Given the description of an element on the screen output the (x, y) to click on. 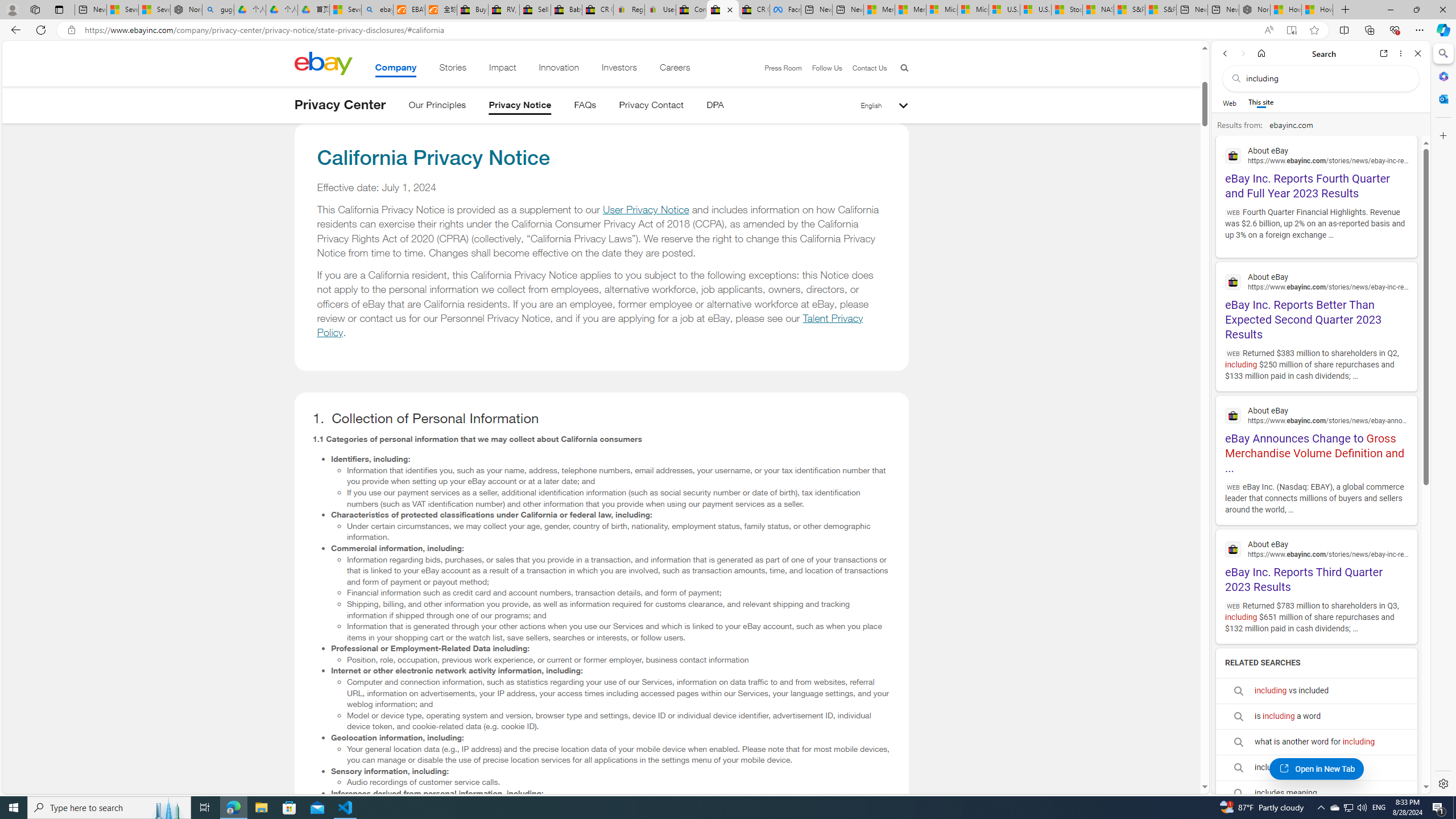
eBay Inc. Reports Third Quarter 2023 Results (1315, 564)
includes synonym (1315, 767)
